Given the description of an element on the screen output the (x, y) to click on. 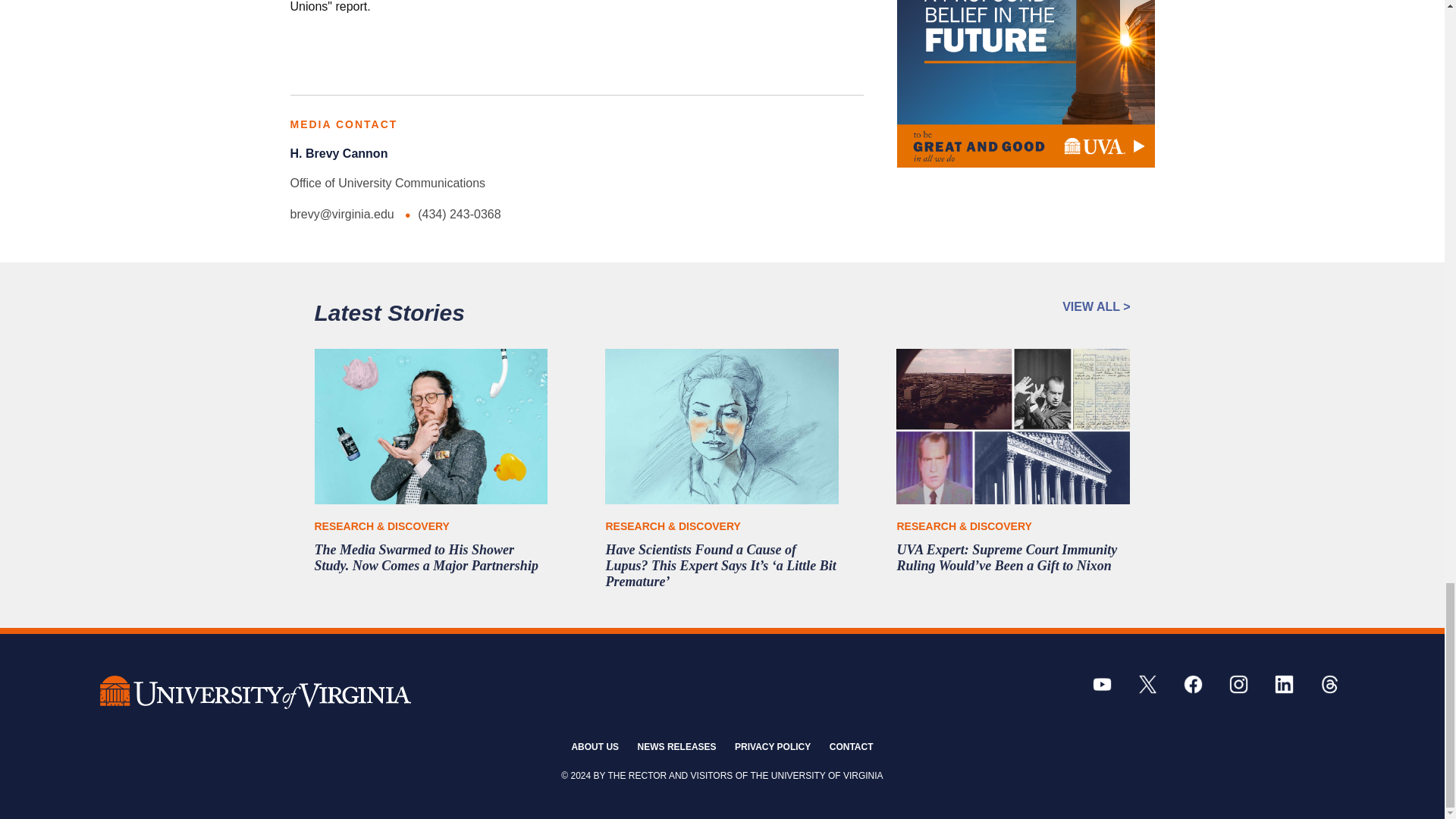
H. Brevy Cannon (338, 153)
